Given the description of an element on the screen output the (x, y) to click on. 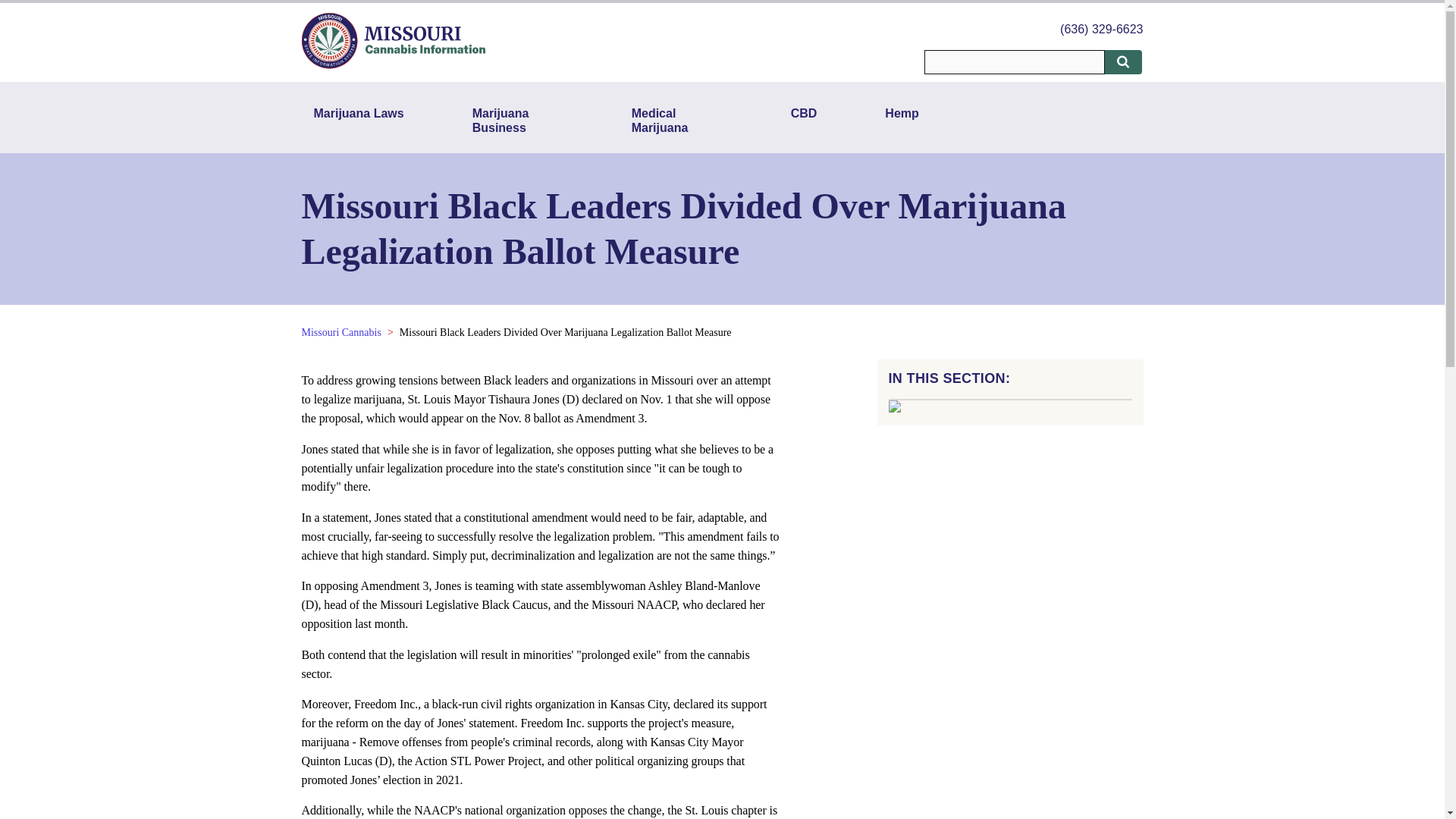
Marijuana Laws (358, 119)
Marijuana Business (517, 119)
Hemp (901, 119)
Medical Marijuana (677, 119)
CBD (803, 119)
Missouri Cannabis (341, 332)
